Given the description of an element on the screen output the (x, y) to click on. 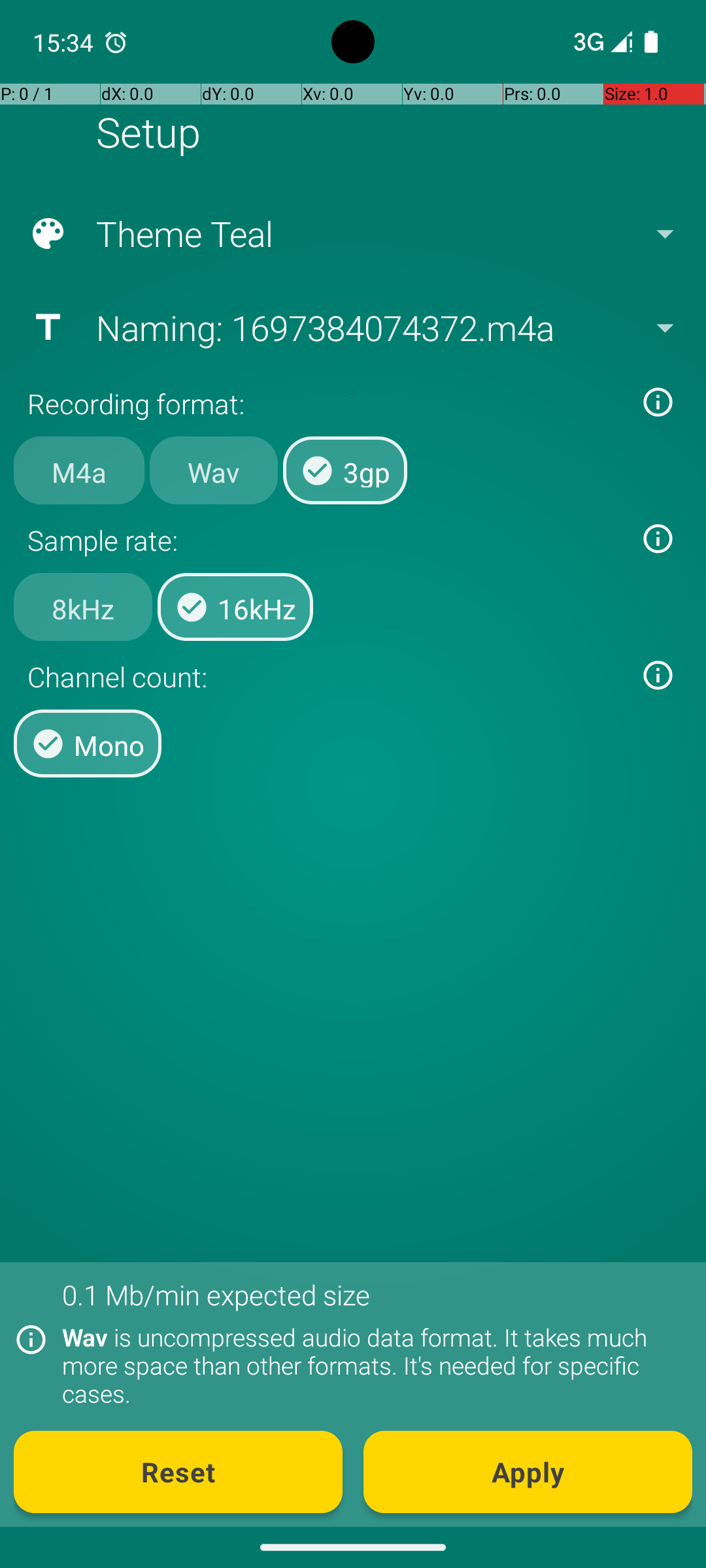
0.1 Mb/min expected size Element type: android.widget.TextView (215, 1294)
Wav is uncompressed audio data format. It takes much more space than other formats. It's needed for specific cases. Element type: android.widget.TextView (370, 1364)
Naming: 1697384074372.m4a Element type: android.widget.TextView (352, 327)
Clock notification: Missed alarm Element type: android.widget.ImageView (115, 41)
